Given the description of an element on the screen output the (x, y) to click on. 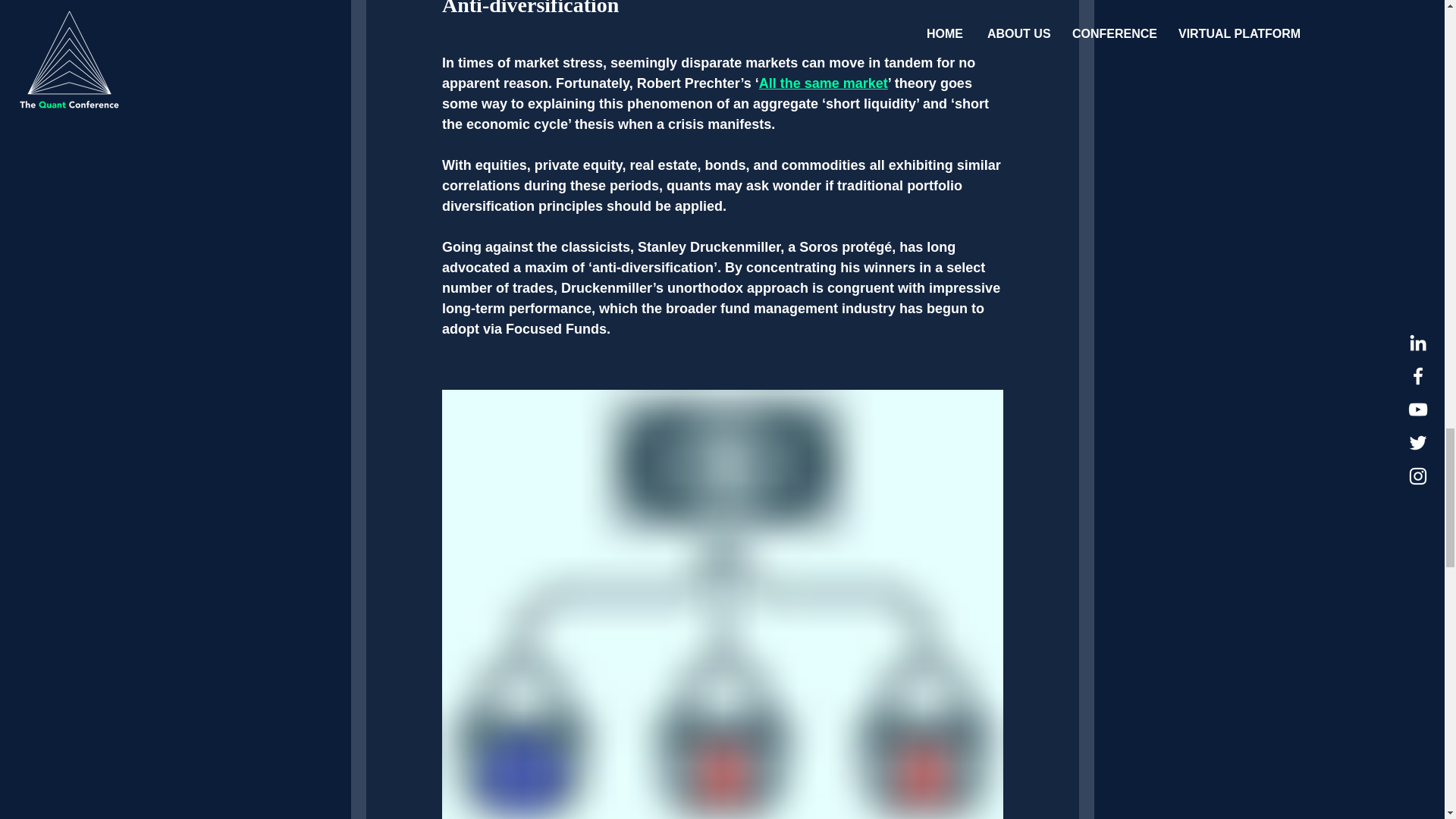
All the same market (822, 83)
